Given the description of an element on the screen output the (x, y) to click on. 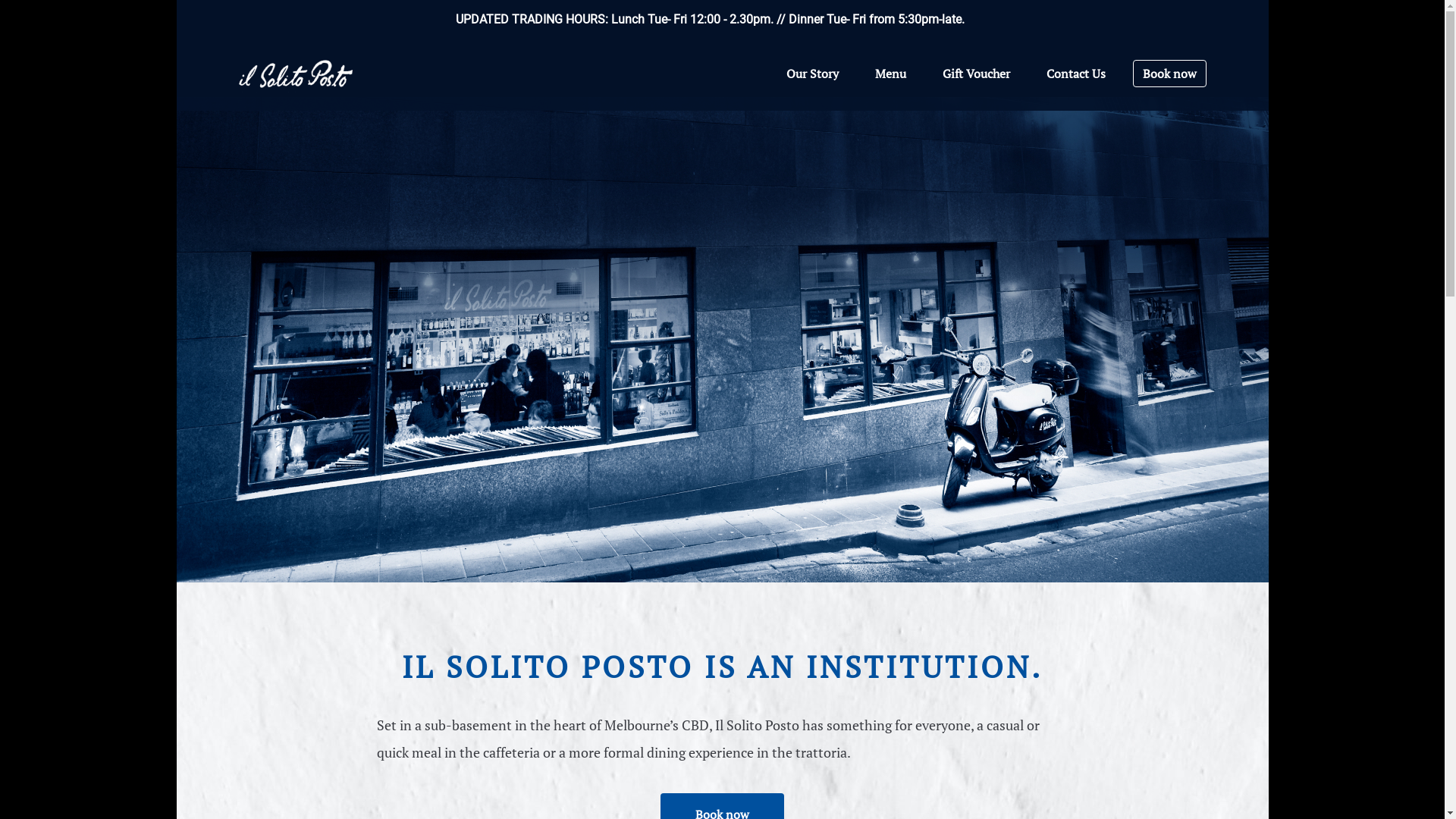
Our Story Element type: text (811, 73)
Book now Element type: text (1169, 73)
Contact Us Element type: text (1075, 73)
Gift Voucher Element type: text (975, 73)
Menu Element type: text (890, 73)
